Given the description of an element on the screen output the (x, y) to click on. 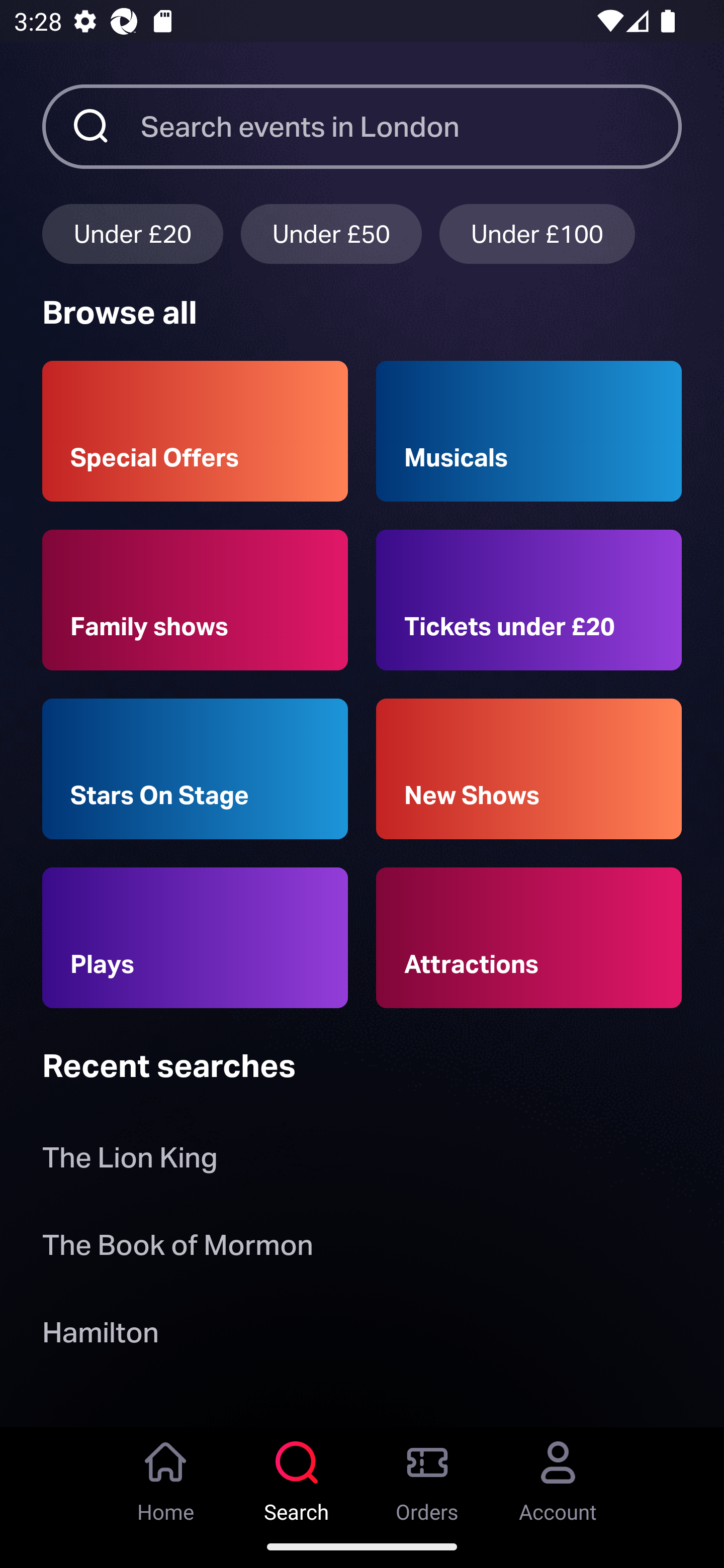
Search events in London (411, 126)
Under £20 (131, 233)
Under £50 (331, 233)
Under £100 (536, 233)
Special Offers (194, 430)
Musicals (528, 430)
Family shows (194, 600)
Tickets under £20  (528, 600)
Stars On Stage (194, 768)
New Shows (528, 768)
Plays (194, 937)
Attractions  (528, 937)
The Lion King (129, 1161)
The Book of Mormon (177, 1248)
Hamilton (99, 1335)
Home (165, 1475)
Orders (427, 1475)
Account (558, 1475)
